Given the description of an element on the screen output the (x, y) to click on. 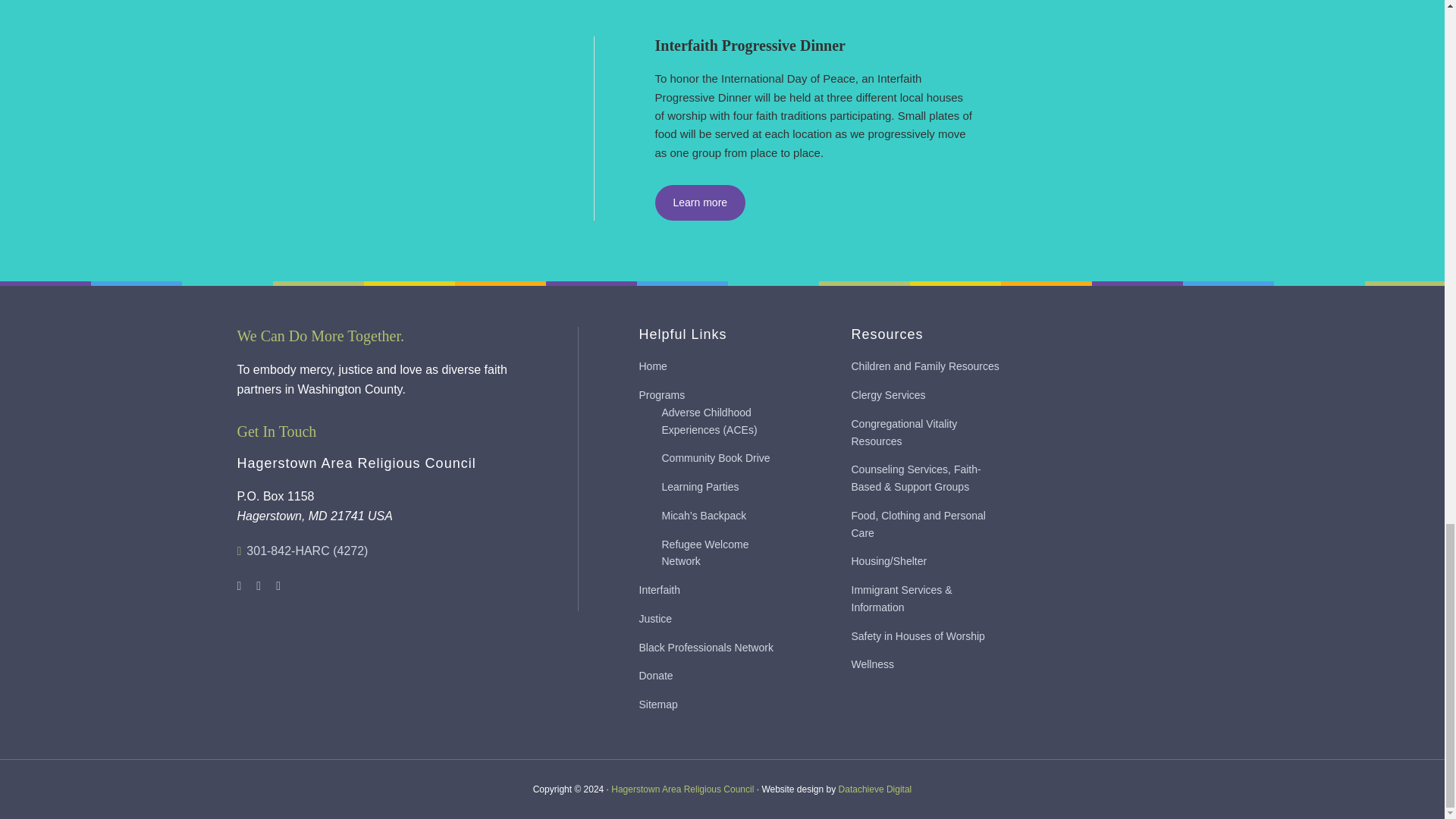
Hagerstown Area Religious Council (682, 788)
